Given the description of an element on the screen output the (x, y) to click on. 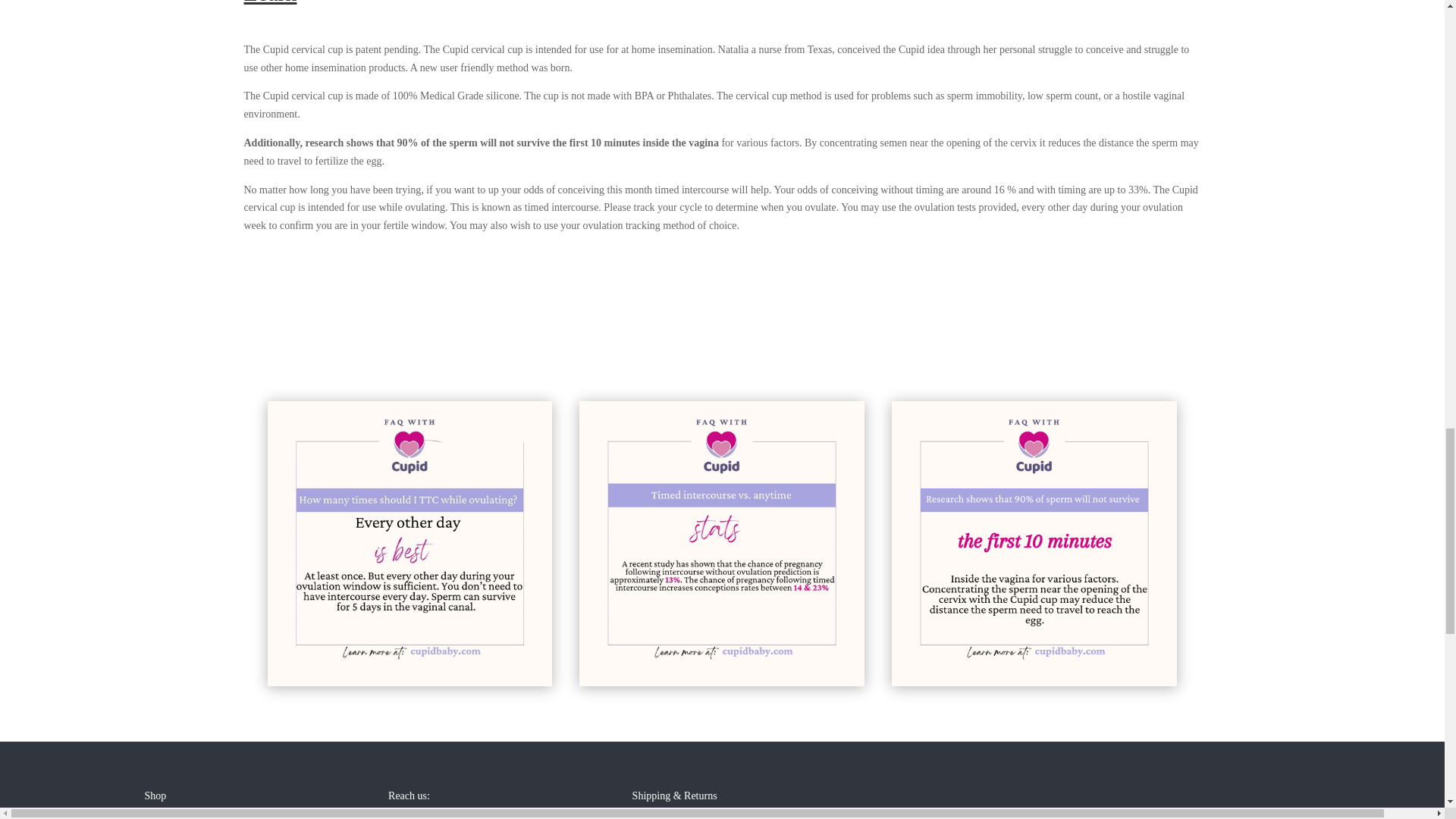
sperm faq (1033, 543)
Shop (154, 795)
Timed-intercourse-vs-anytime (721, 543)
